Given the description of an element on the screen output the (x, y) to click on. 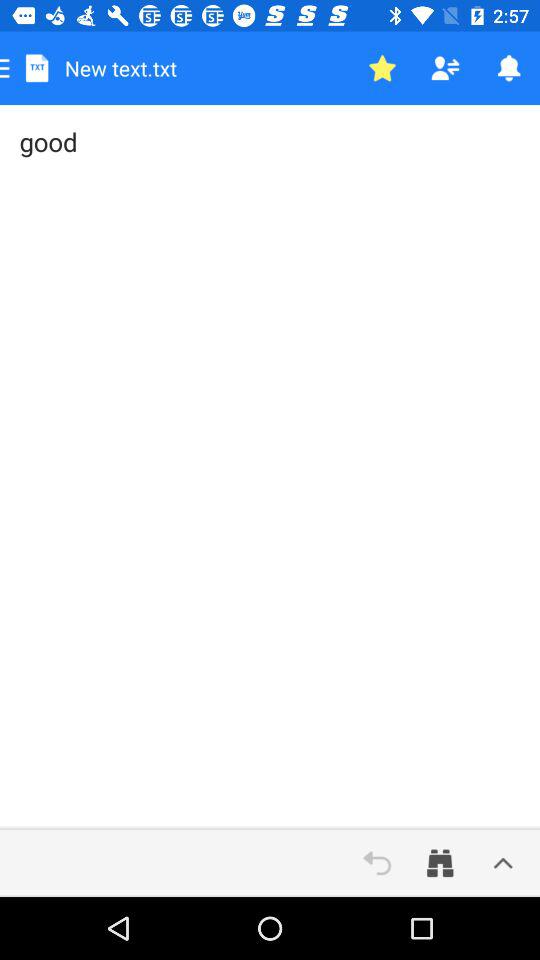
go back (377, 863)
